Given the description of an element on the screen output the (x, y) to click on. 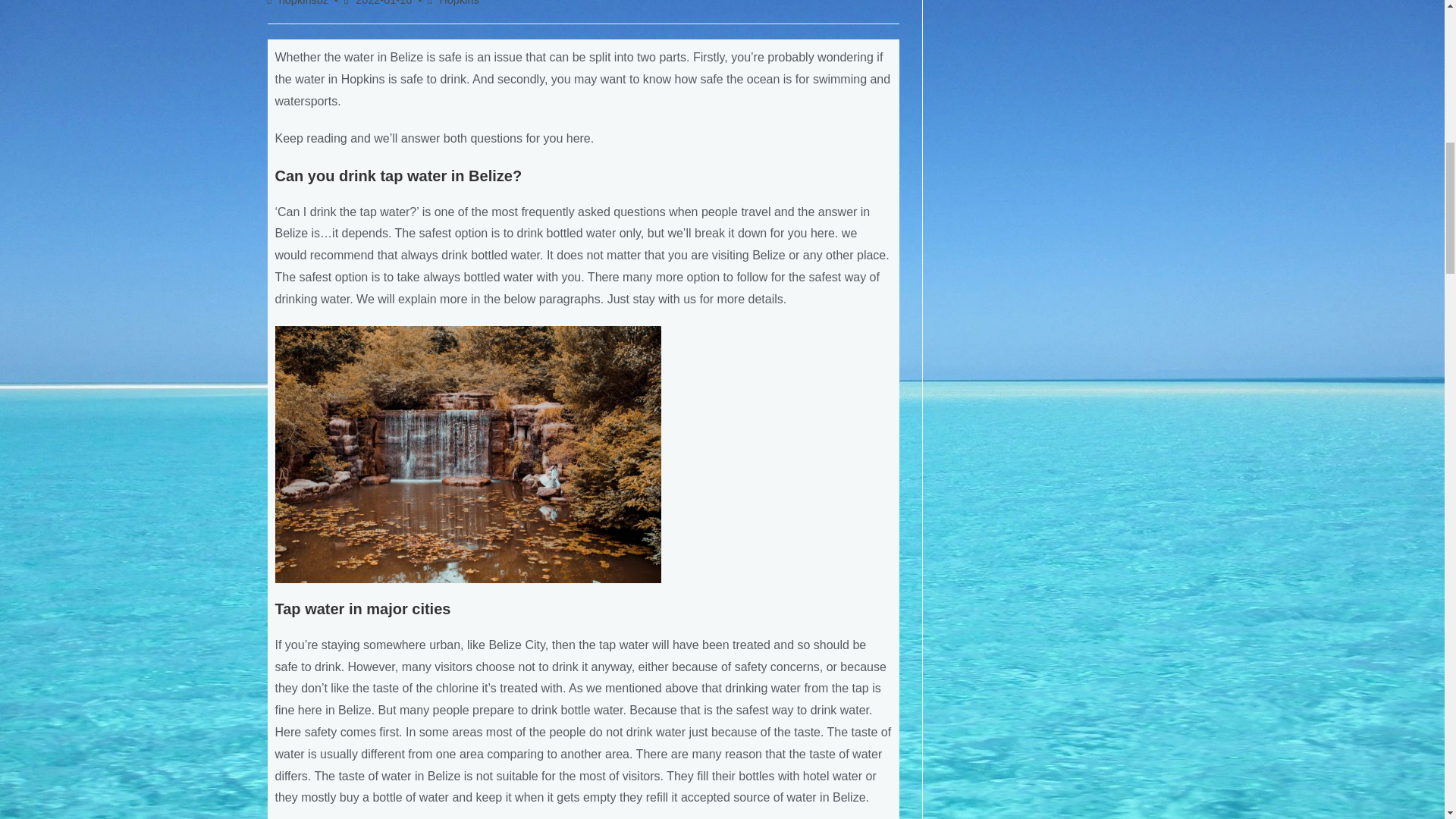
Hopkins (459, 2)
Posts by hopkinsbz (304, 2)
hopkinsbz (304, 2)
